Given the description of an element on the screen output the (x, y) to click on. 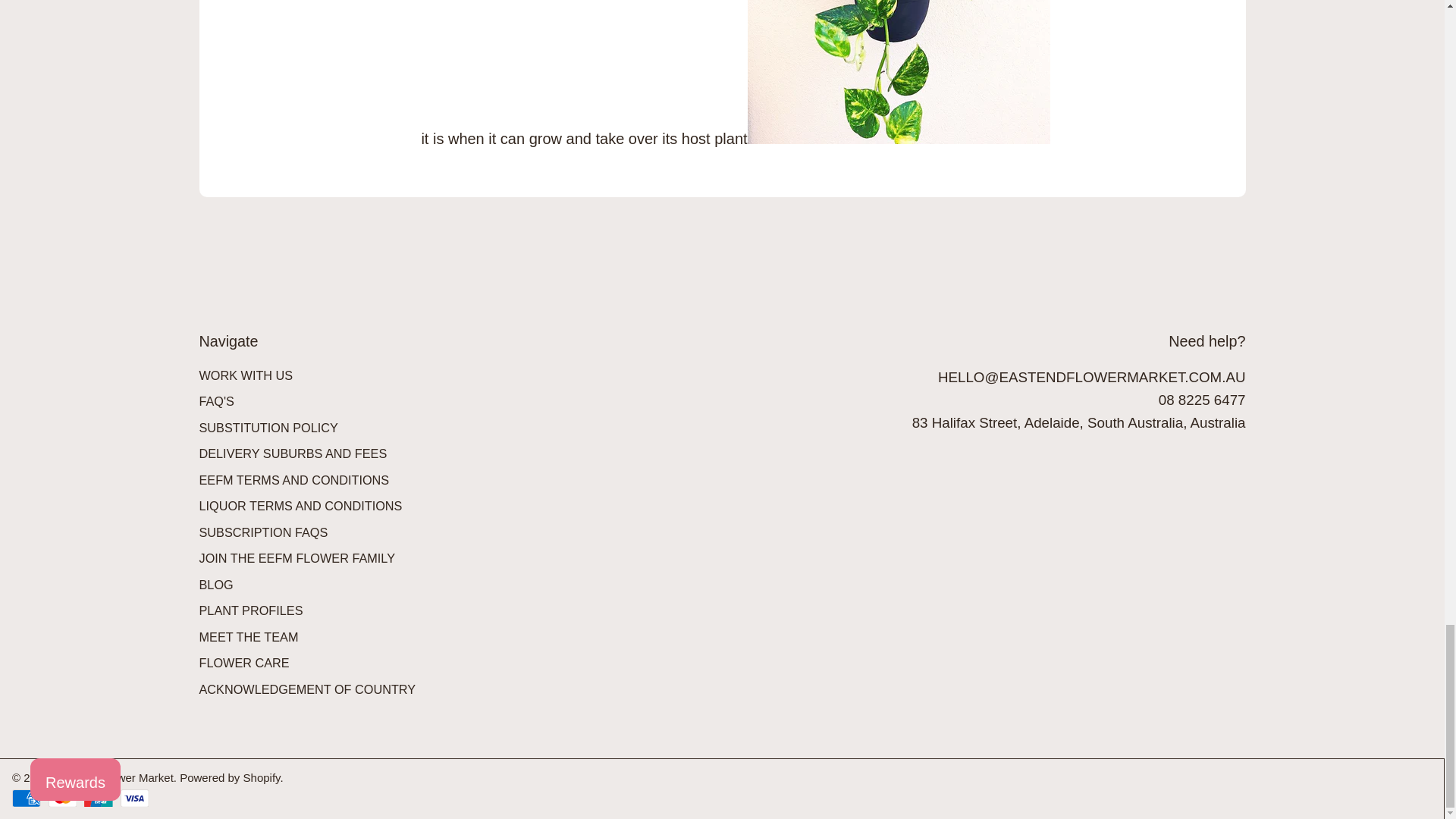
American Express (25, 798)
Visa (134, 798)
Union Pay (98, 798)
Mastercard (62, 798)
